Given the description of an element on the screen output the (x, y) to click on. 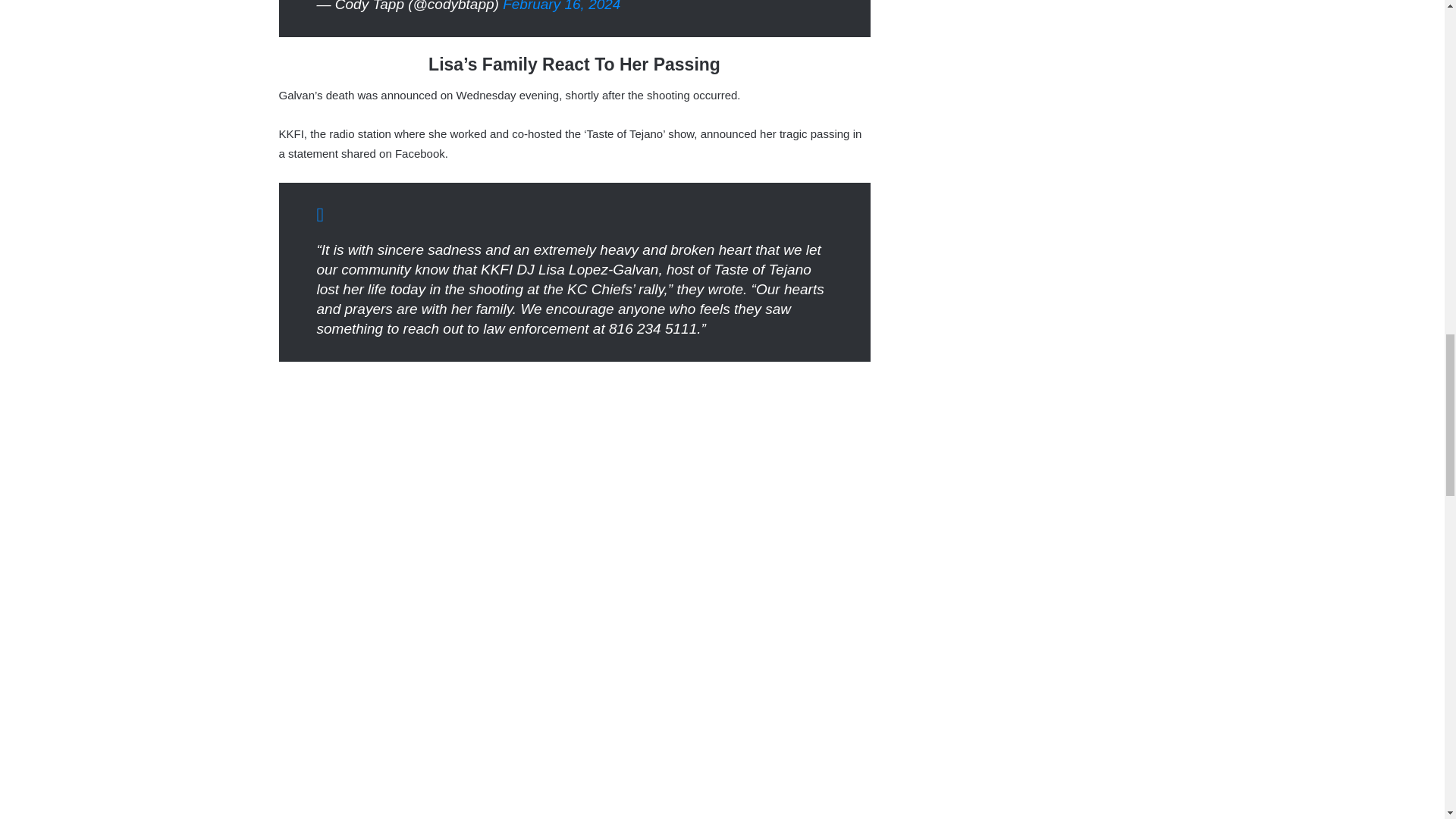
February 16, 2024 (561, 6)
